Given the description of an element on the screen output the (x, y) to click on. 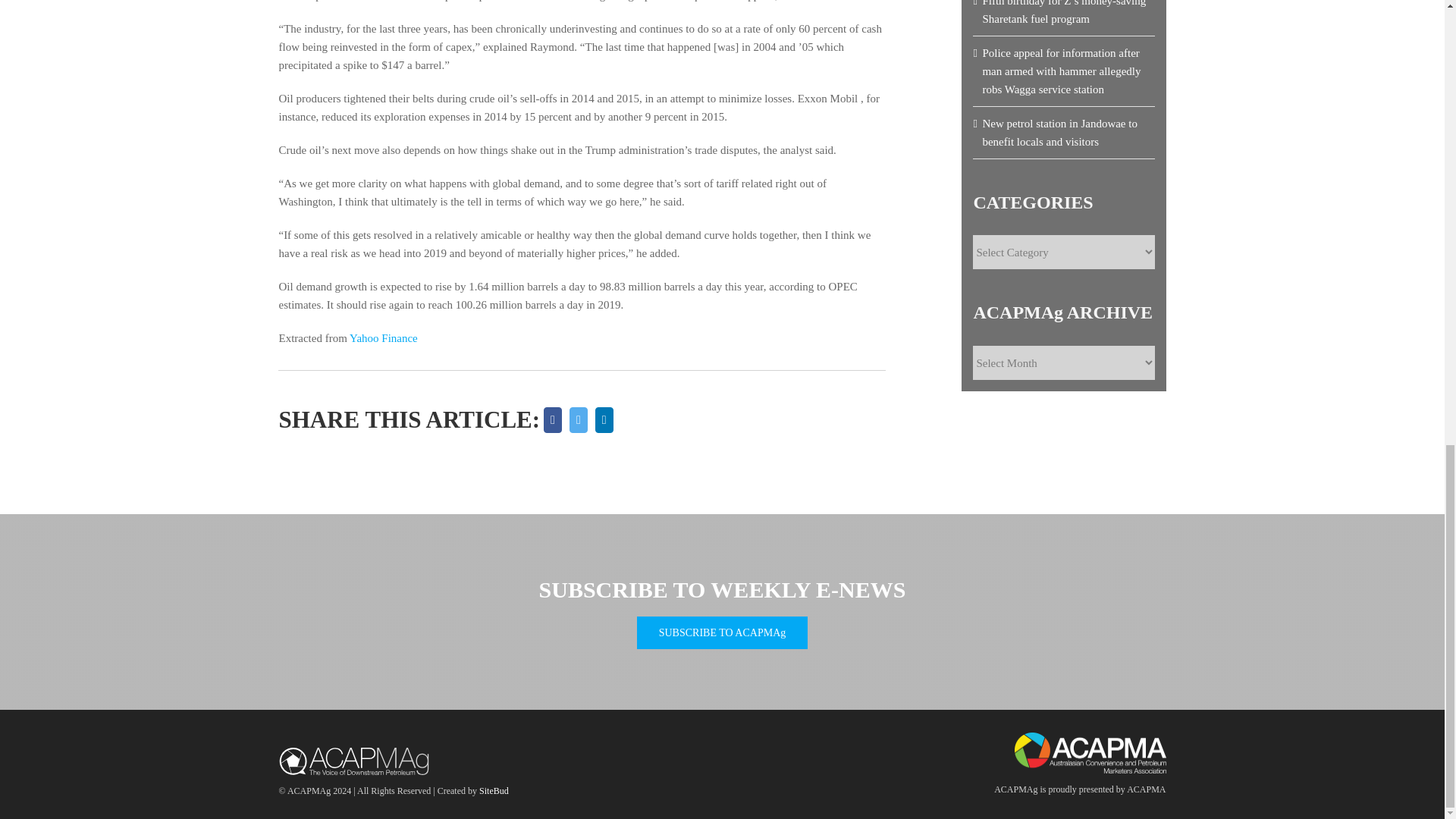
SiteBud (493, 790)
Yahoo Finance (383, 337)
SUBSCRIBE TO ACAPMAg (722, 632)
